Given the description of an element on the screen output the (x, y) to click on. 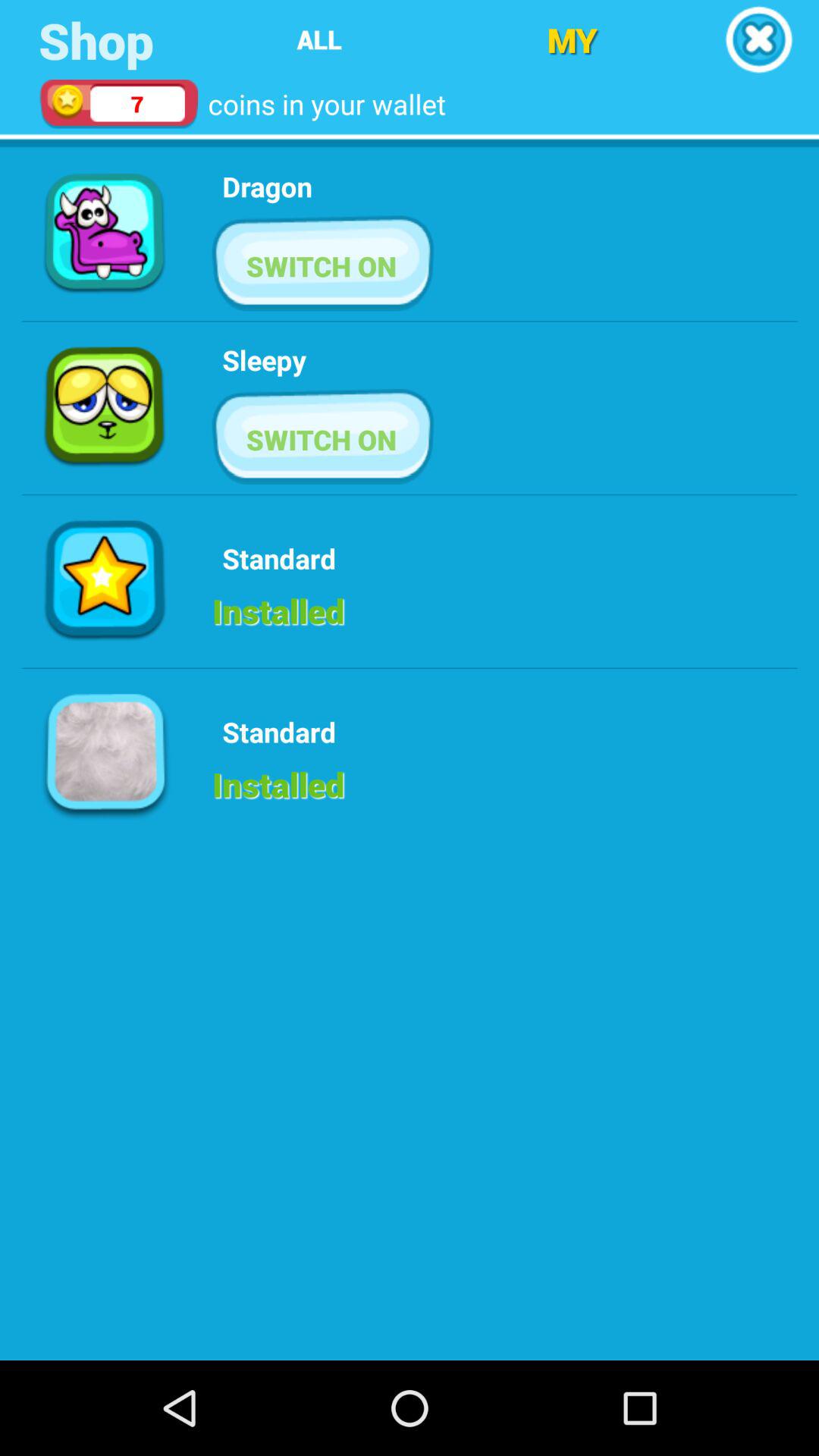
close app (758, 39)
